Given the description of an element on the screen output the (x, y) to click on. 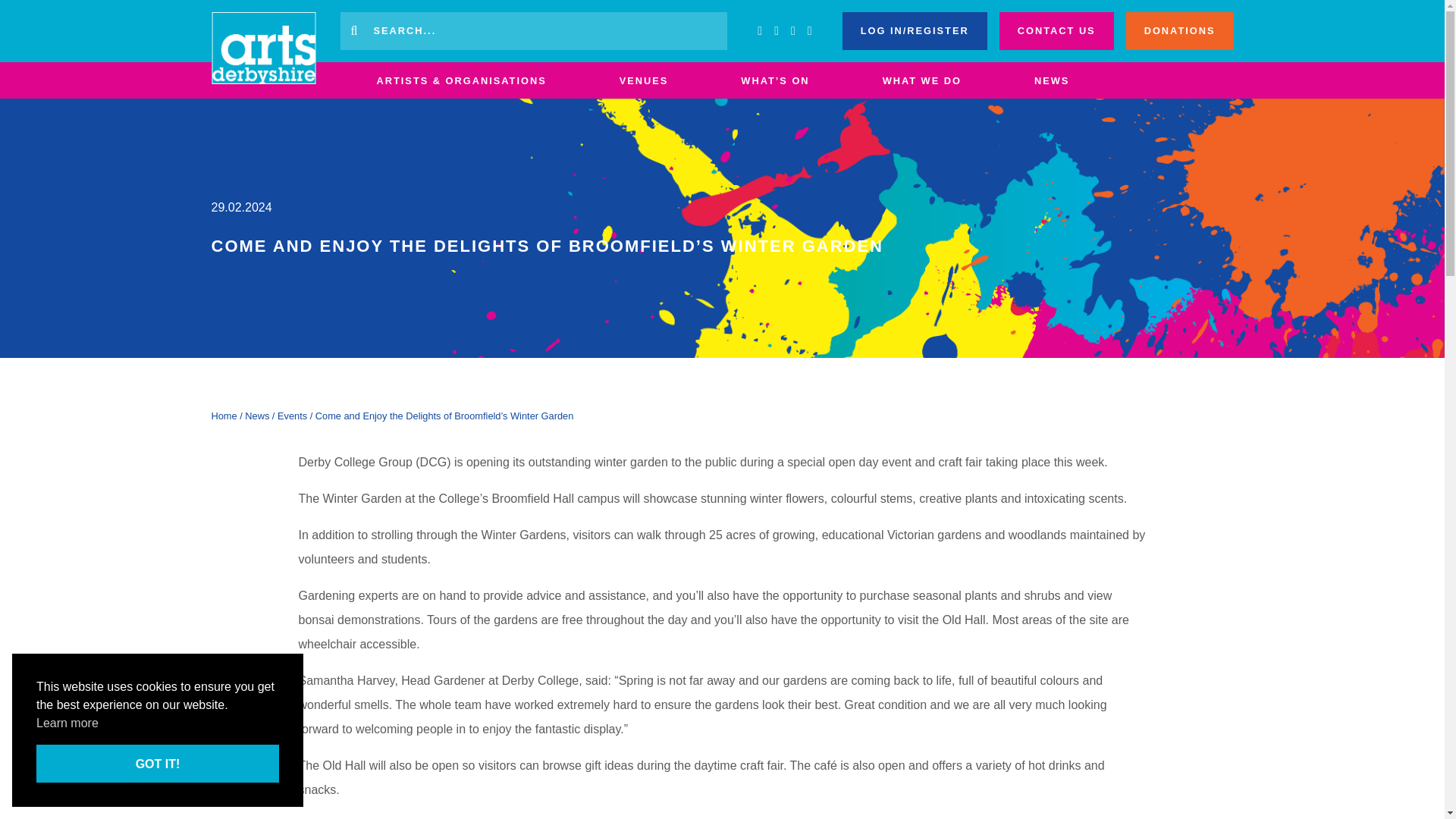
WHAT WE DO (921, 80)
Learn more (67, 723)
GOT IT! (157, 763)
DONATIONS (1179, 30)
CONTACT US (1055, 30)
VENUES (644, 80)
